Given the description of an element on the screen output the (x, y) to click on. 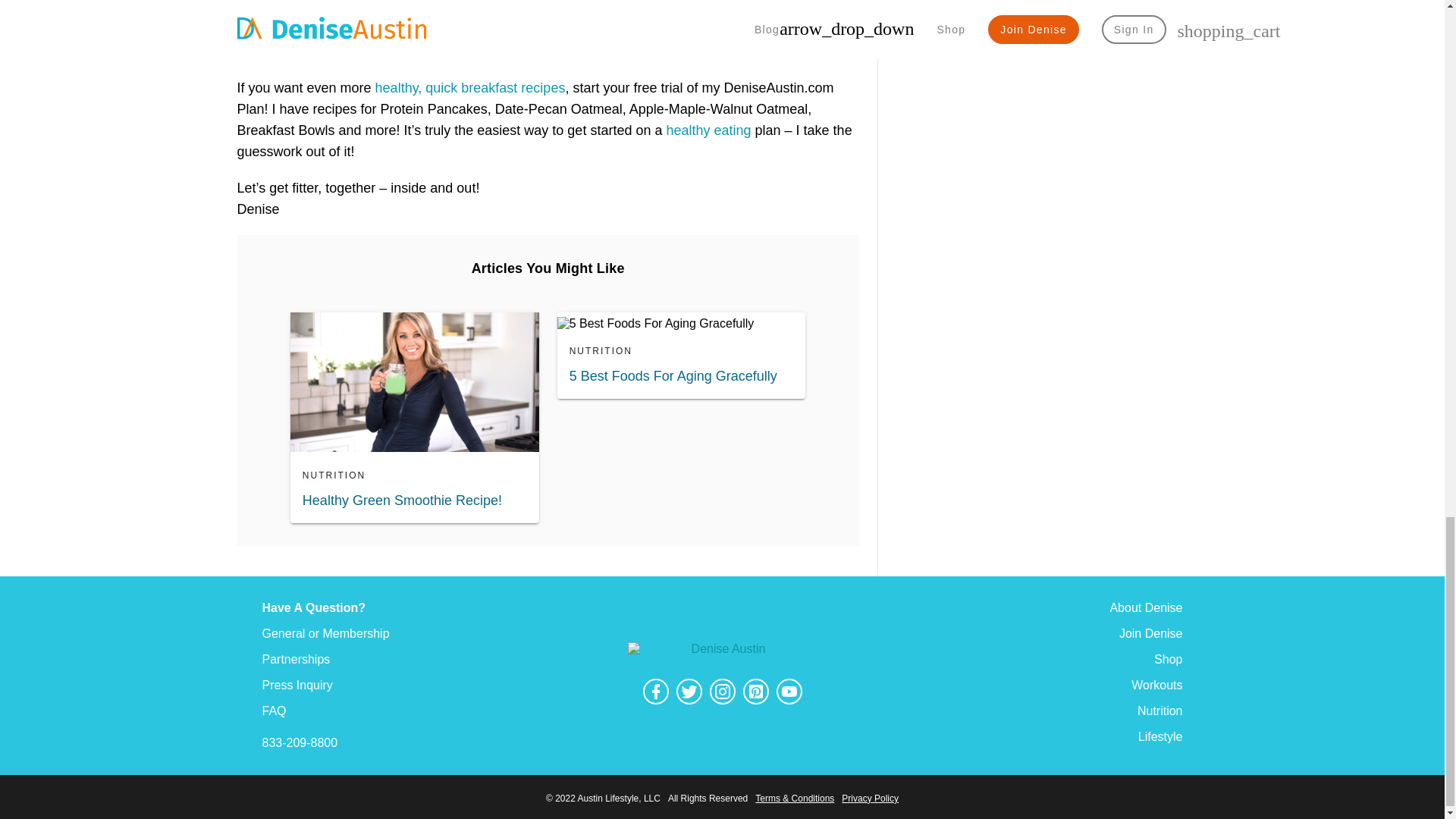
healthy eating (708, 130)
Healthy Green Smoothie Recipe! (414, 501)
healthy, quick breakfast recipes (470, 87)
